Given the description of an element on the screen output the (x, y) to click on. 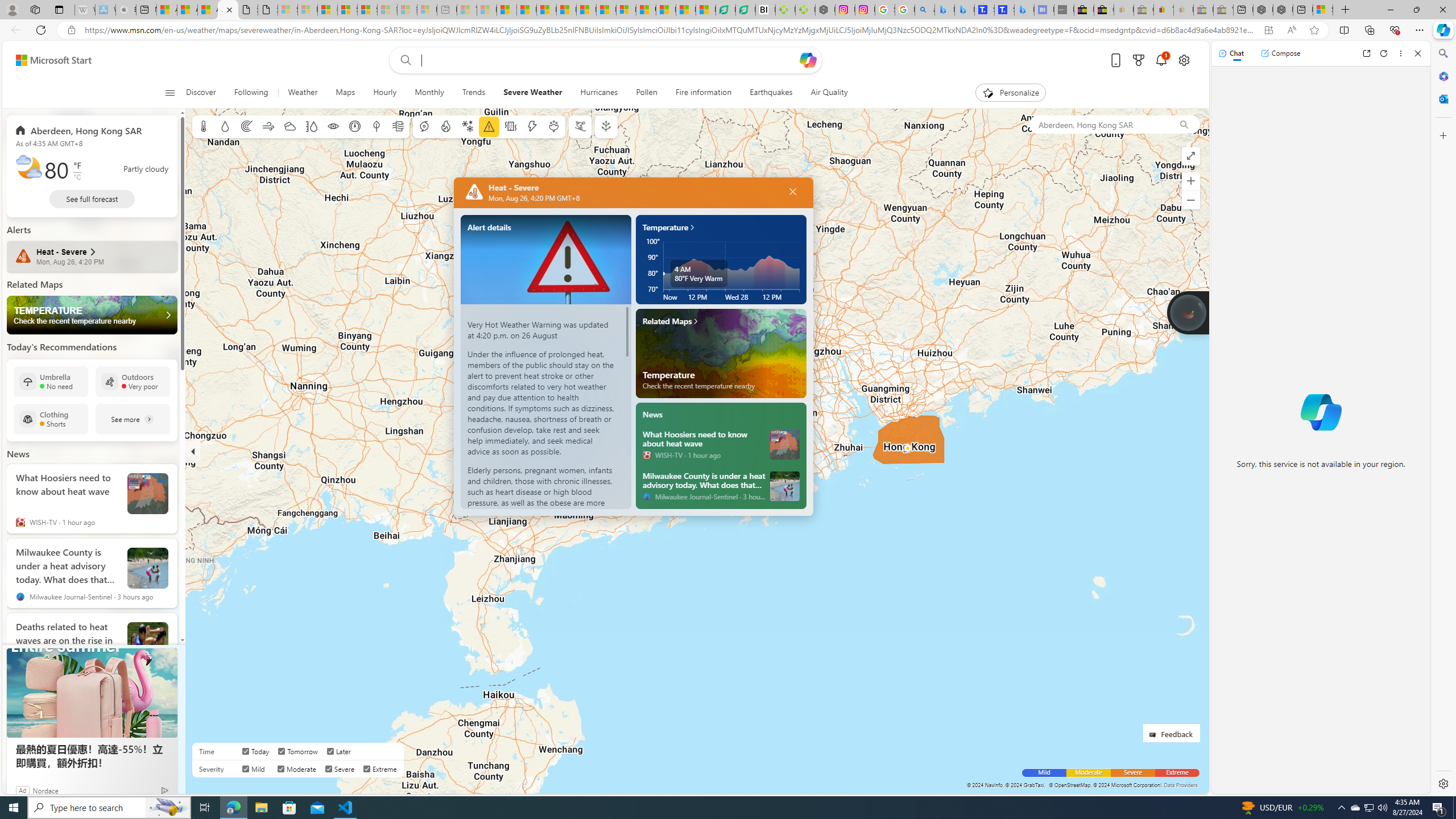
Aberdeen, Hong Kong SAR weather forecast | Microsoft Weather (186, 9)
Pollen (553, 126)
Precipitation (225, 126)
App available. Install Microsoft Start Weather (1268, 29)
LendingTree - Compare Lenders (745, 9)
Clothing Shorts (50, 418)
Hurricanes (598, 92)
